Given the description of an element on the screen output the (x, y) to click on. 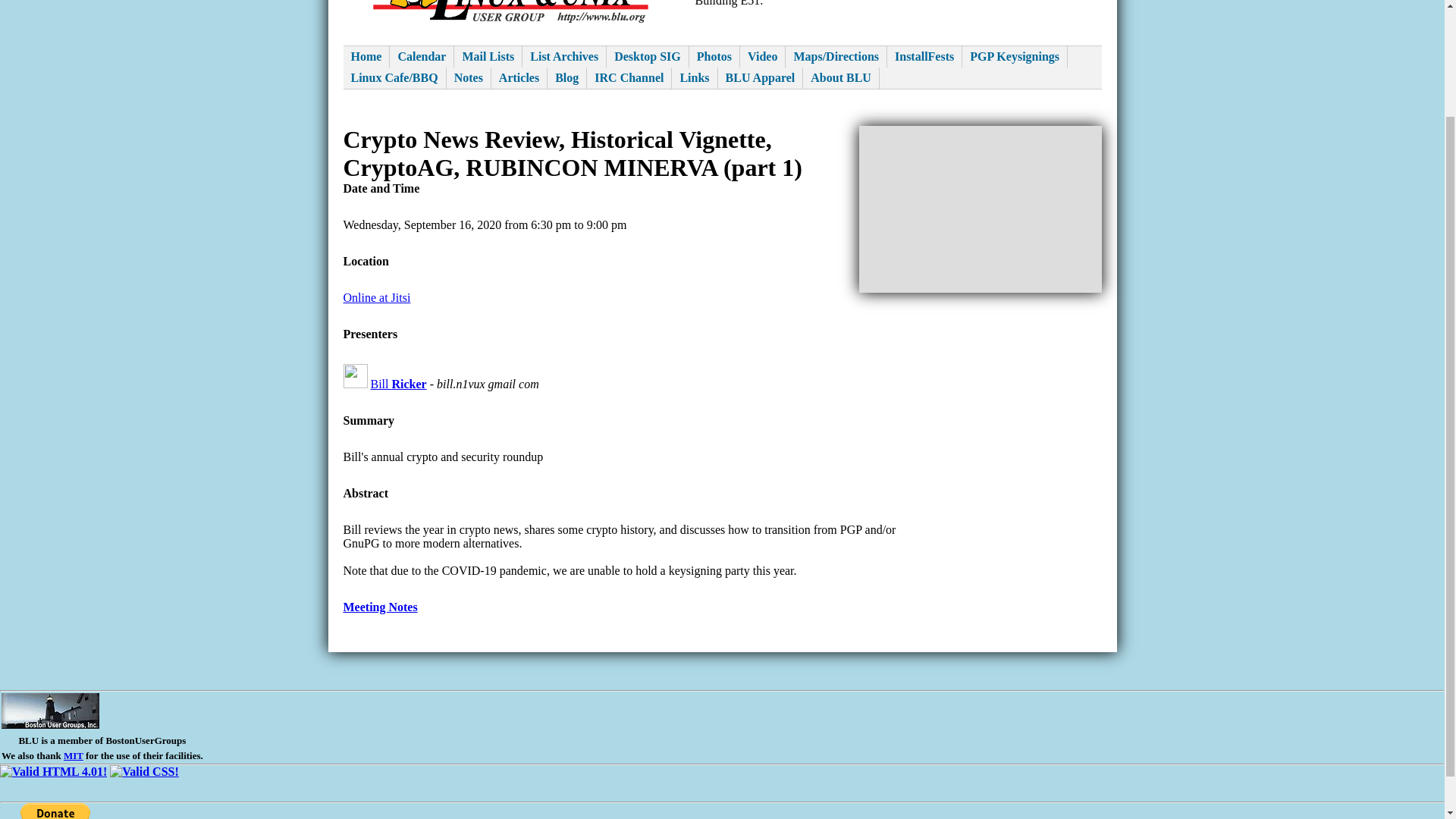
Online at Jitsi (376, 297)
About BLU (841, 77)
Articles (519, 77)
Bill Ricker (397, 383)
Photos (713, 56)
YouTube video player (979, 209)
List Archives (564, 56)
Desktop SIG (647, 56)
Blog (566, 77)
MIT (73, 755)
